Given the description of an element on the screen output the (x, y) to click on. 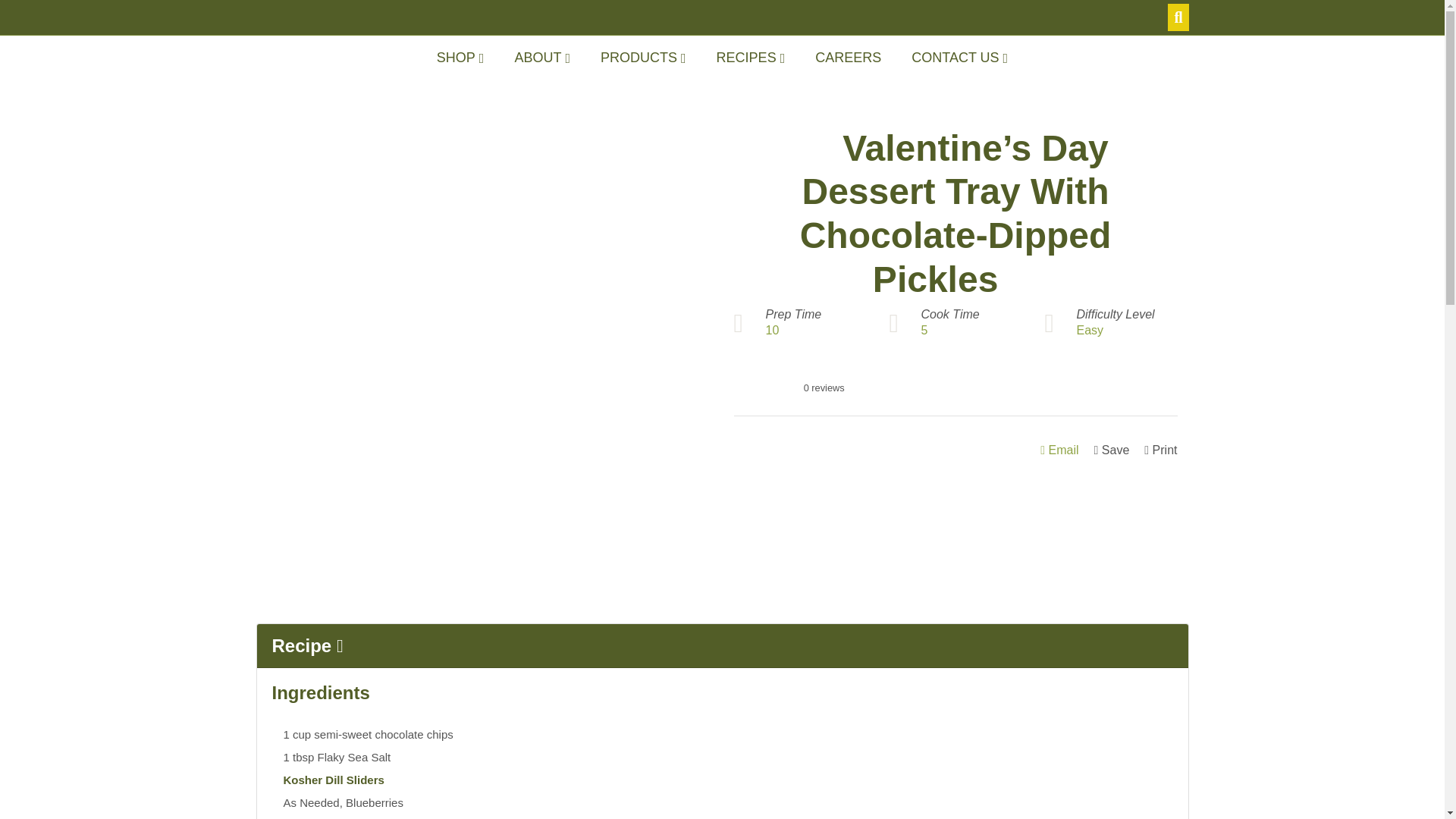
PRODUCTS (643, 57)
bookmark this page (1111, 450)
Share by Email (1059, 450)
RECIPES (750, 57)
ABOUT (542, 57)
Print (1160, 450)
SHOP (460, 57)
